Given the description of an element on the screen output the (x, y) to click on. 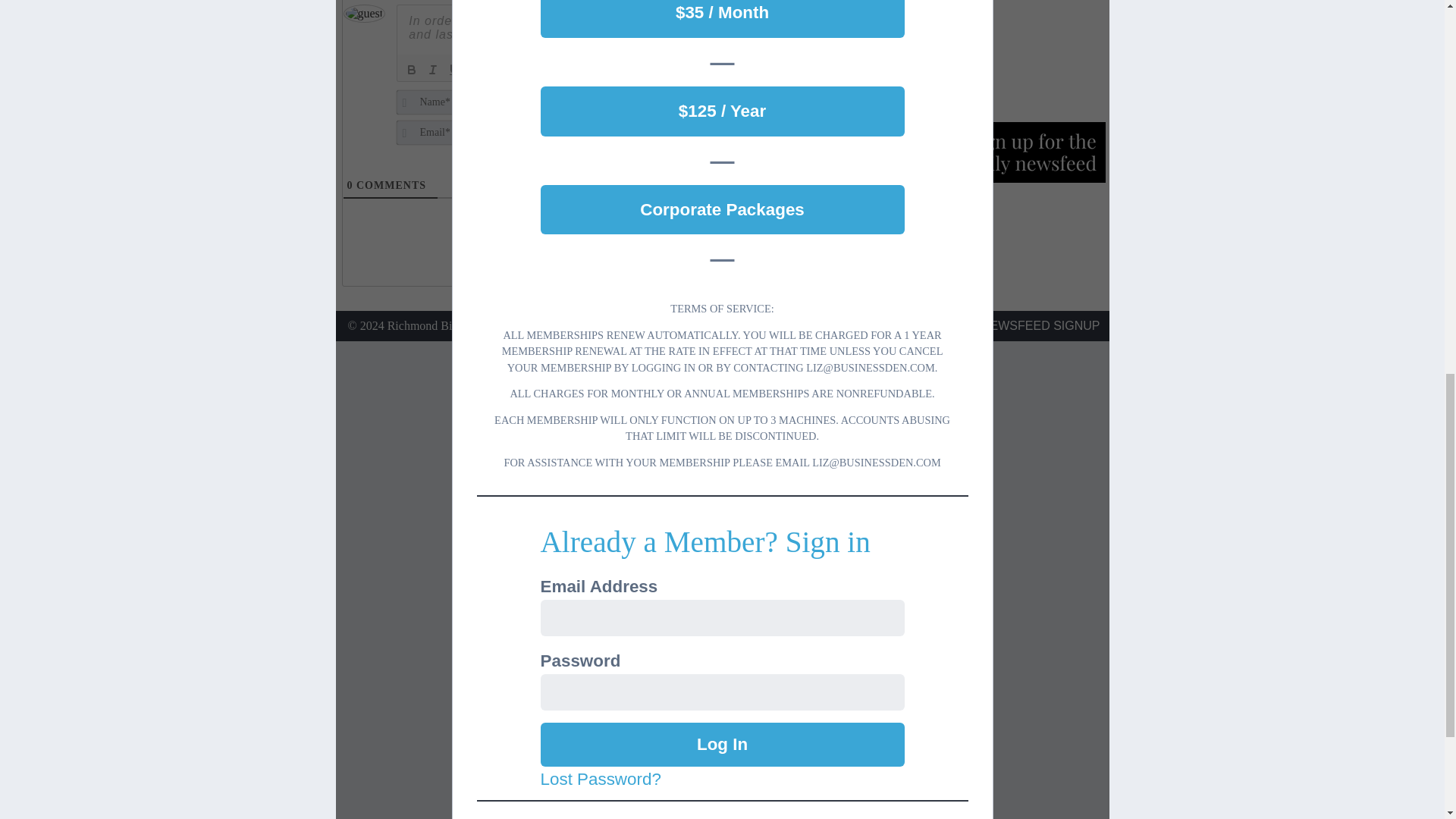
Code Block (560, 69)
Blockquote (539, 69)
Bold (411, 69)
Underline (454, 69)
Italic (433, 69)
Strike (475, 69)
Unordered List (517, 69)
Source Code (601, 69)
Link (581, 69)
Log In (722, 744)
Post Comment (811, 112)
Ordered List (496, 69)
